Given the description of an element on the screen output the (x, y) to click on. 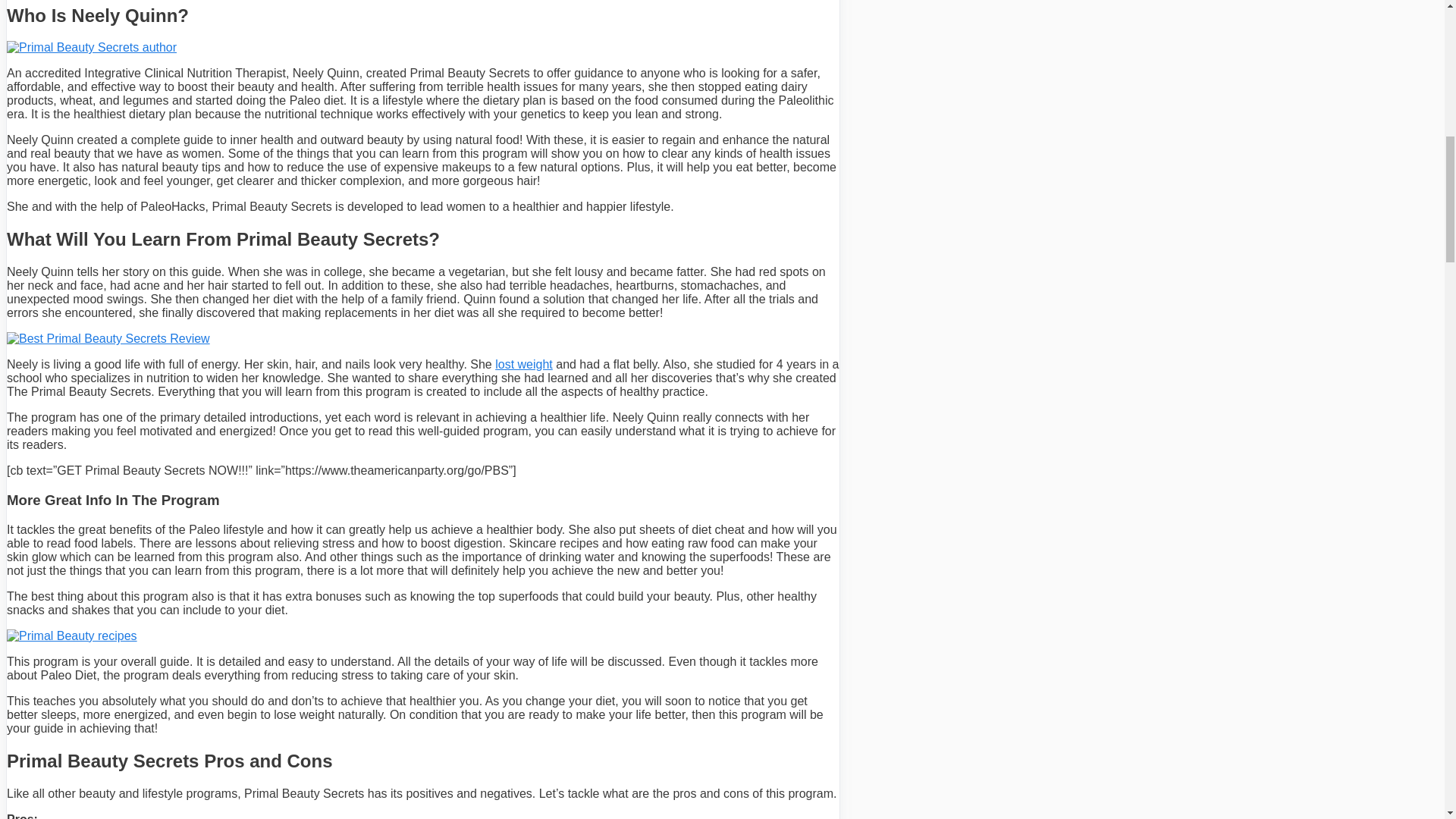
lost weight (524, 364)
